Given the description of an element on the screen output the (x, y) to click on. 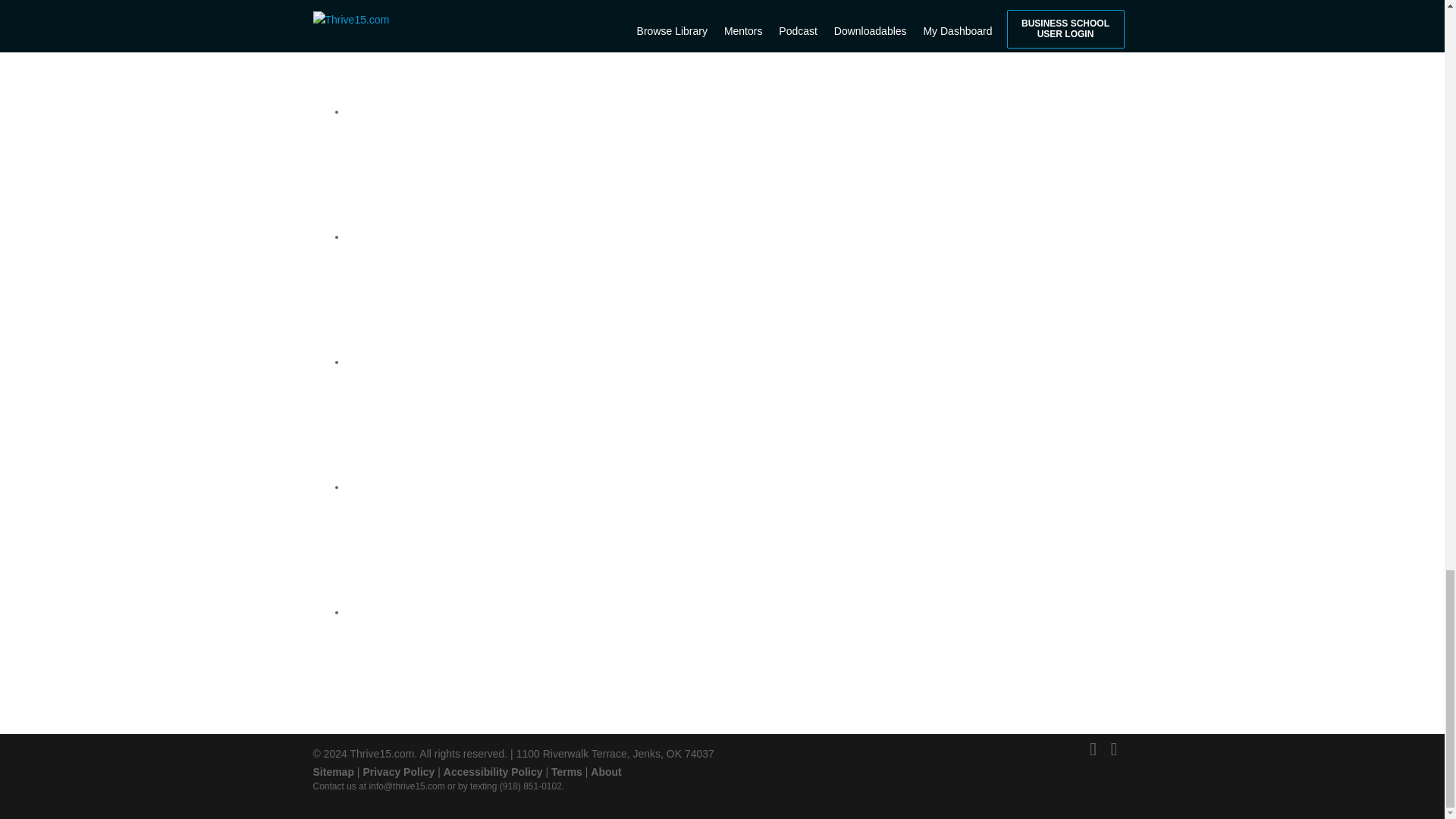
Privacy Policy (397, 771)
Accessibility Policy (493, 771)
Terms (566, 771)
Sitemap (333, 771)
About (606, 771)
